Given the description of an element on the screen output the (x, y) to click on. 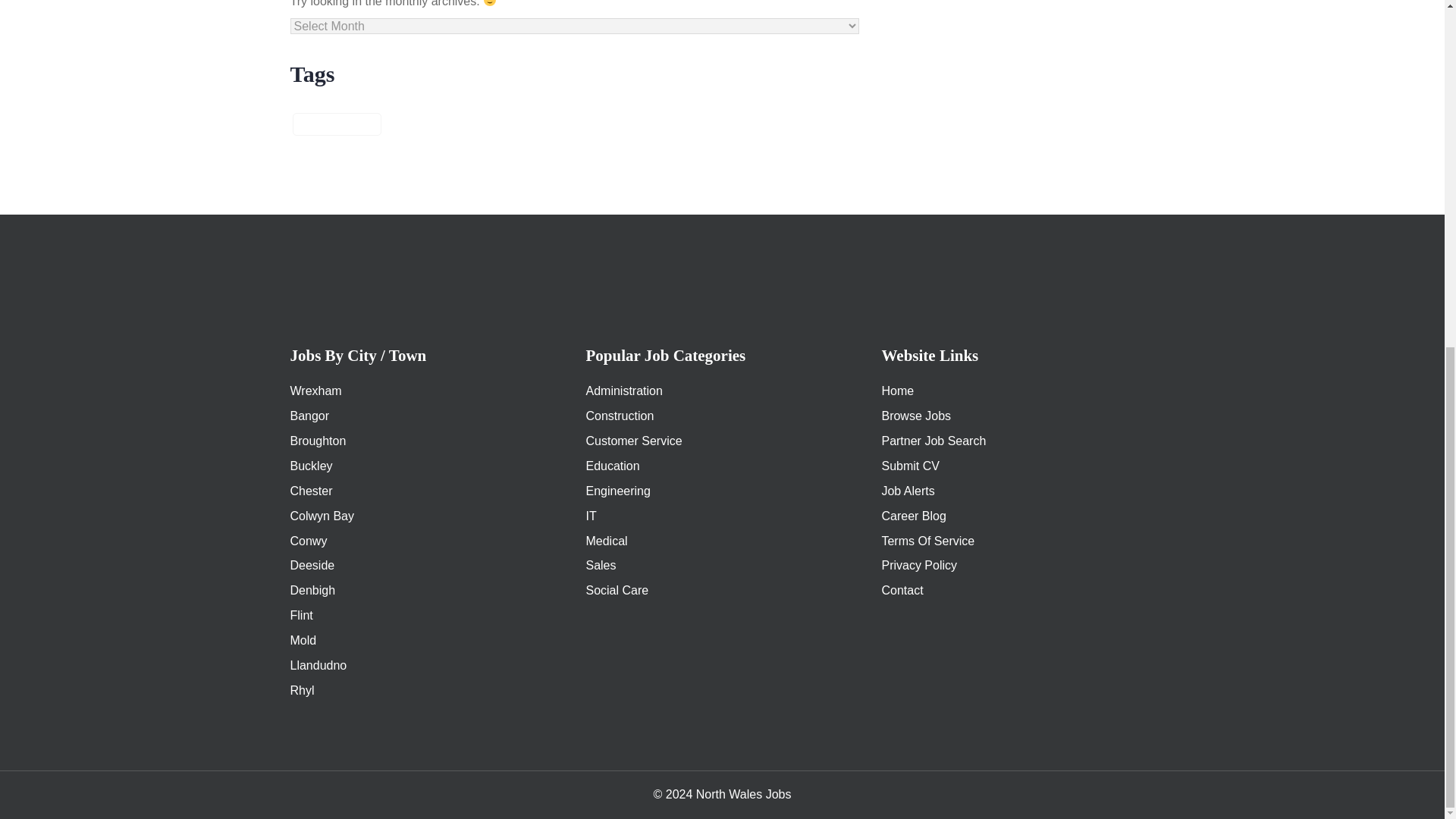
Education (612, 465)
careers advice (336, 124)
Colwyn Bay (321, 515)
Rhyl (301, 689)
Administration (623, 390)
Llandudno (317, 665)
Conwy (307, 540)
Broughton (317, 440)
Buckley (310, 465)
Construction (619, 415)
